Given the description of an element on the screen output the (x, y) to click on. 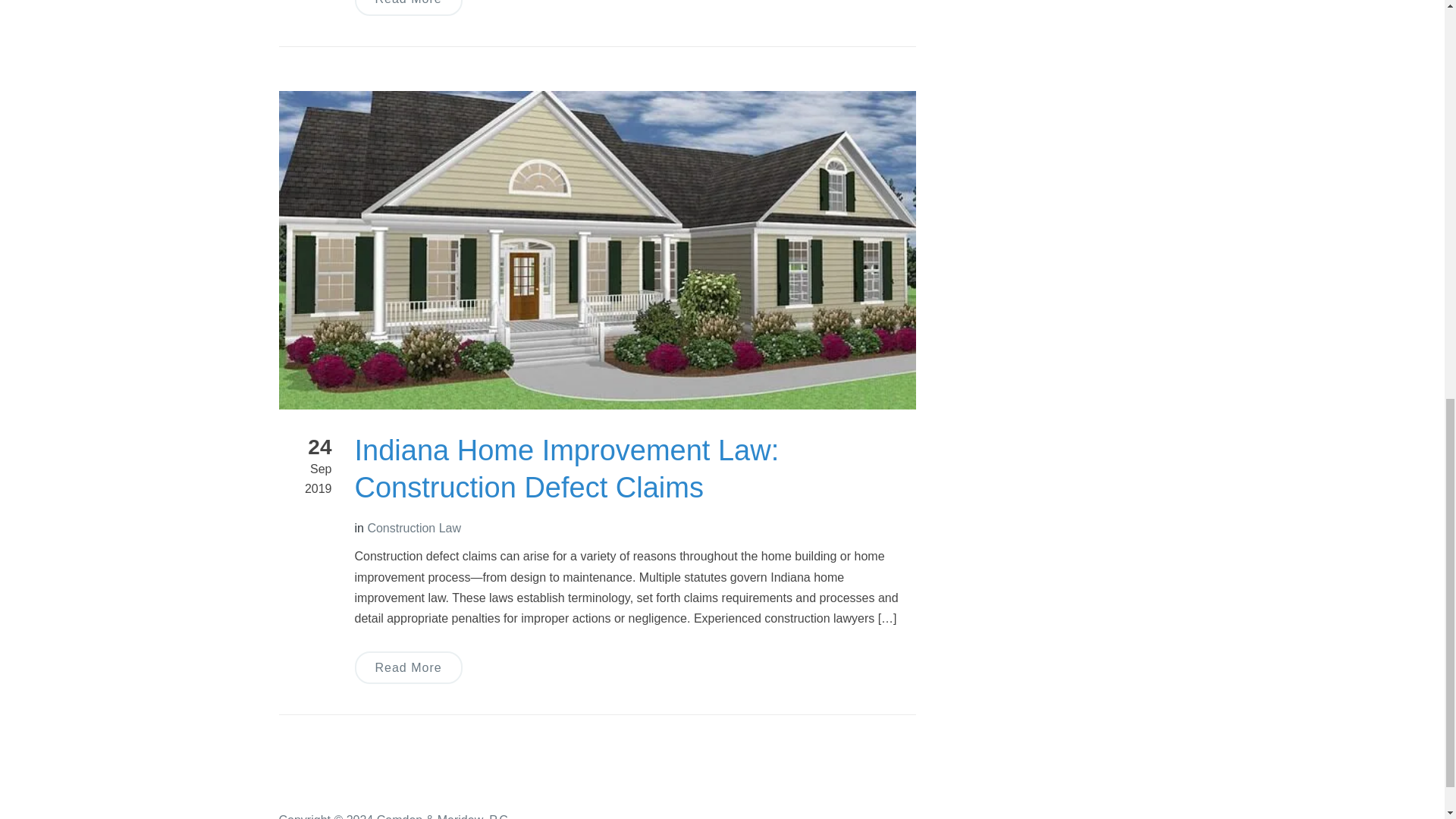
Indiana Home Improvement Law: Construction Defect Claims (597, 248)
